Given the description of an element on the screen output the (x, y) to click on. 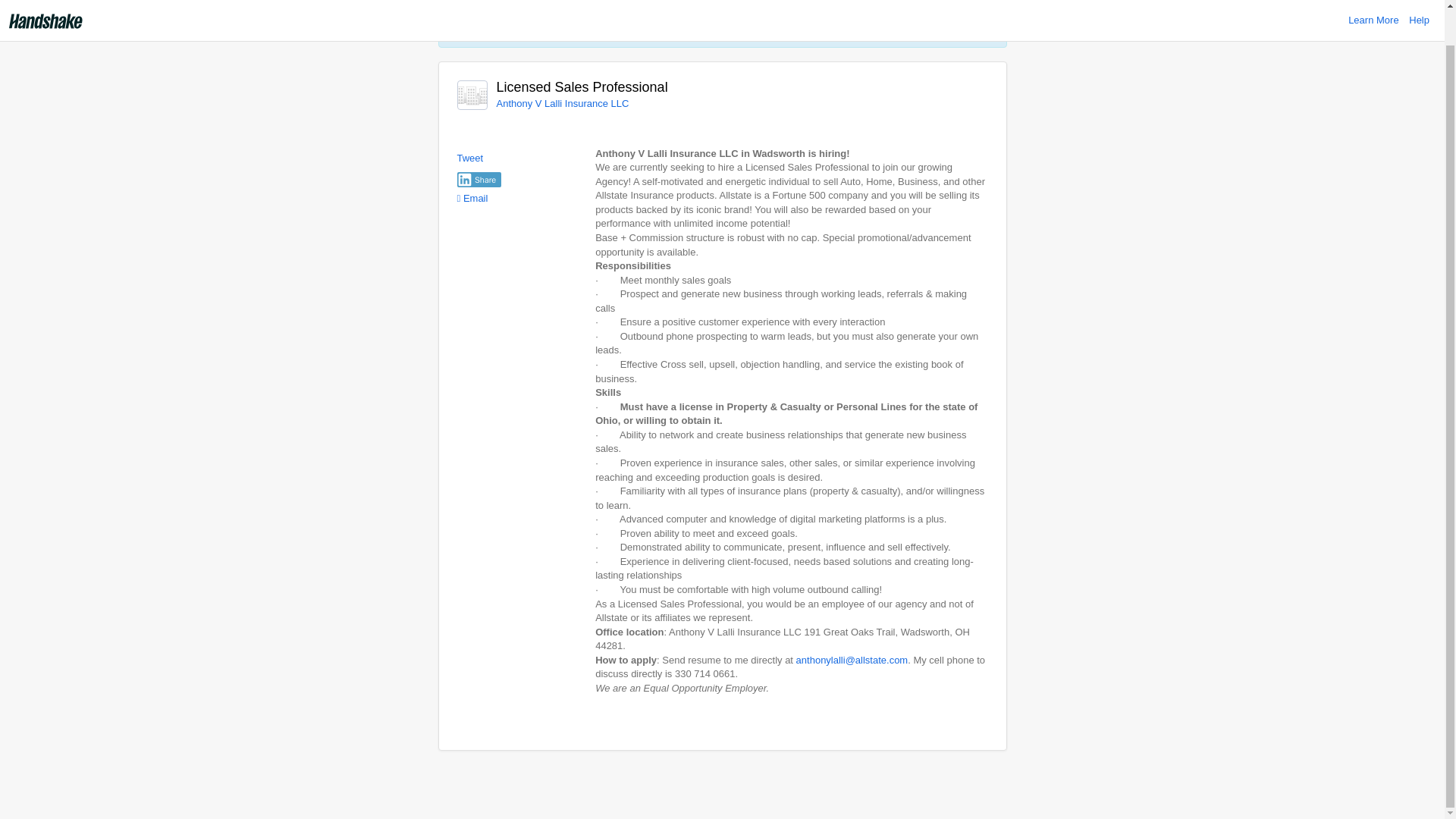
Anthony V Lalli Insurance LLC (562, 102)
Log in (628, 27)
Email (472, 197)
Tweet (470, 157)
Share by Email (472, 197)
Share (478, 179)
register (672, 27)
